Given the description of an element on the screen output the (x, y) to click on. 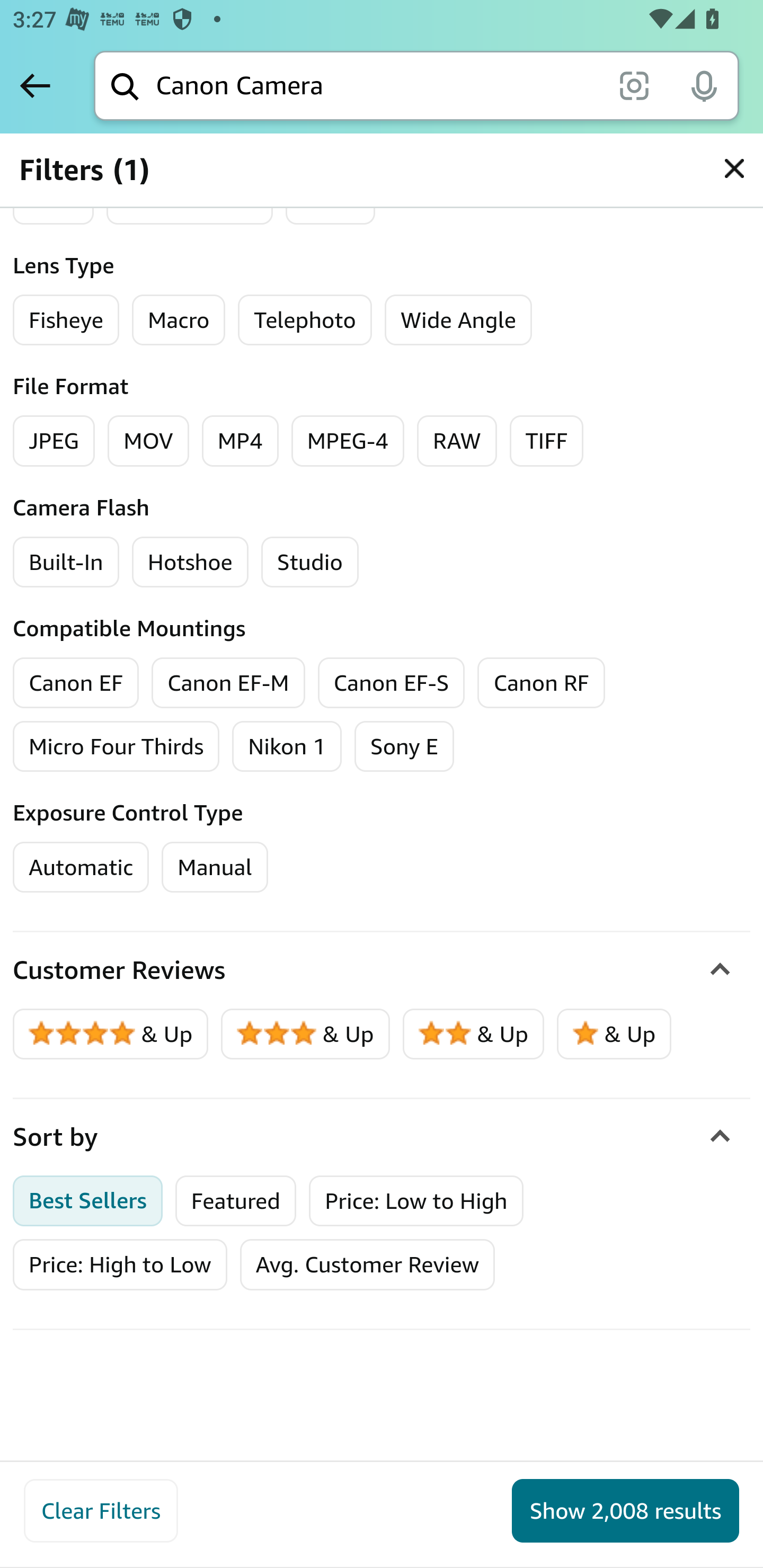
Back (35, 85)
scan it (633, 85)
Fisheye (65, 320)
Macro (177, 320)
Telephoto (304, 320)
Wide Angle (457, 320)
JPEG (53, 441)
MOV (147, 441)
MP4 (239, 441)
MPEG-4 (347, 441)
RAW (456, 441)
TIFF (546, 441)
Built-In (65, 562)
Hotshoe (189, 562)
Studio (309, 562)
Canon EF (75, 682)
Canon EF-M (228, 682)
Canon EF-S (390, 682)
Canon RF (540, 682)
Micro Four Thirds (116, 746)
Nikon 1 (286, 746)
Sony E (403, 746)
Automatic (80, 866)
Manual (214, 866)
Customer Reviews (381, 970)
4 Stars & Up (110, 1033)
3 Stars & Up (305, 1033)
2 Stars & Up (473, 1033)
1 Star & Up (614, 1033)
Sort by (381, 1136)
Featured (235, 1200)
Price: Low to High (416, 1200)
Price: High to Low (119, 1264)
Avg. Customer Review (366, 1264)
Clear Filters (100, 1510)
Show 2,008 results (625, 1510)
